Given the description of an element on the screen output the (x, y) to click on. 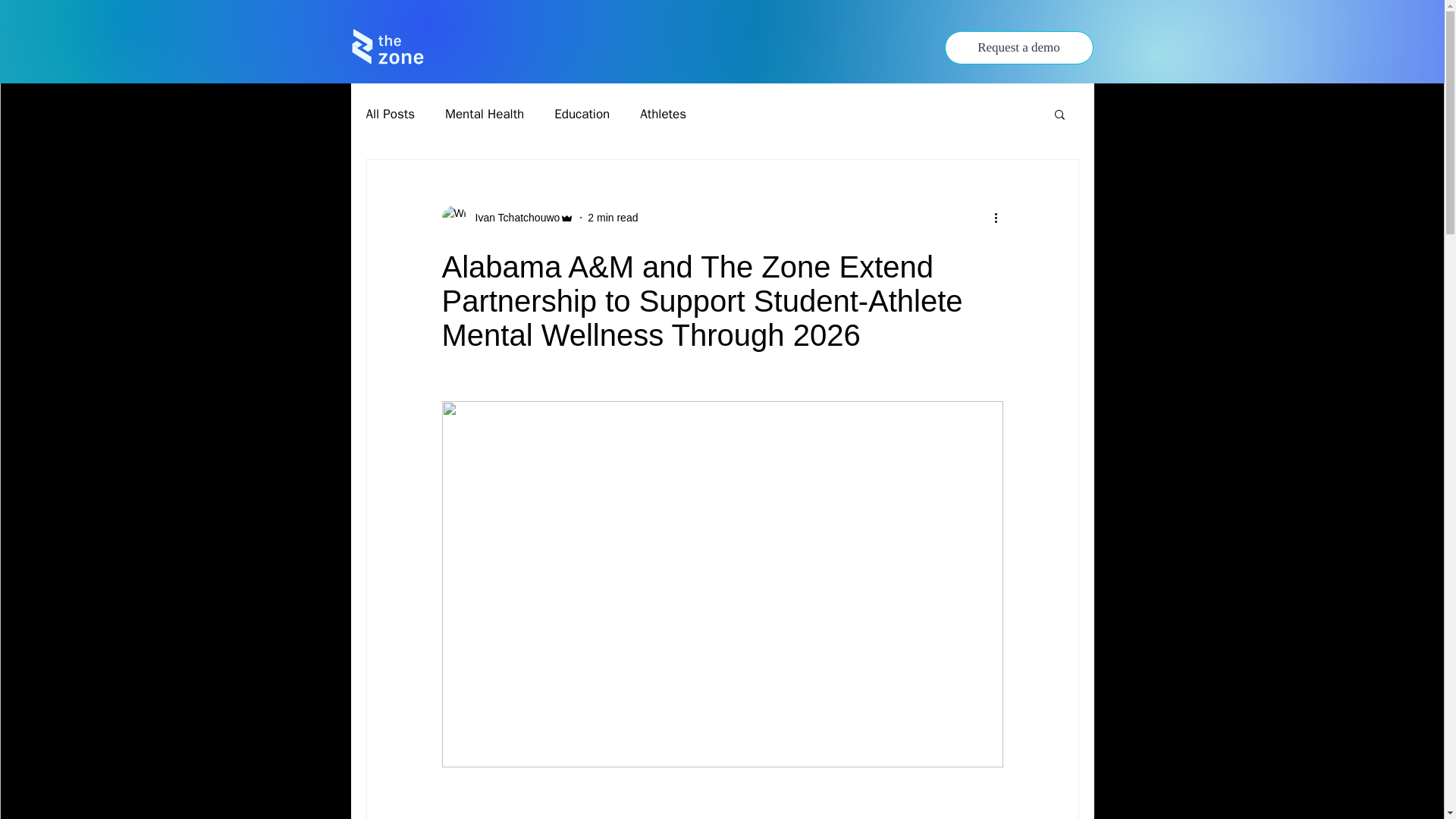
Request a demo (1018, 47)
Education (582, 113)
Ivan Tchatchouwo (507, 217)
Ivan Tchatchouwo (512, 217)
2 min read (612, 216)
Athletes (662, 113)
All Posts (389, 113)
Mental Health (484, 113)
